Given the description of an element on the screen output the (x, y) to click on. 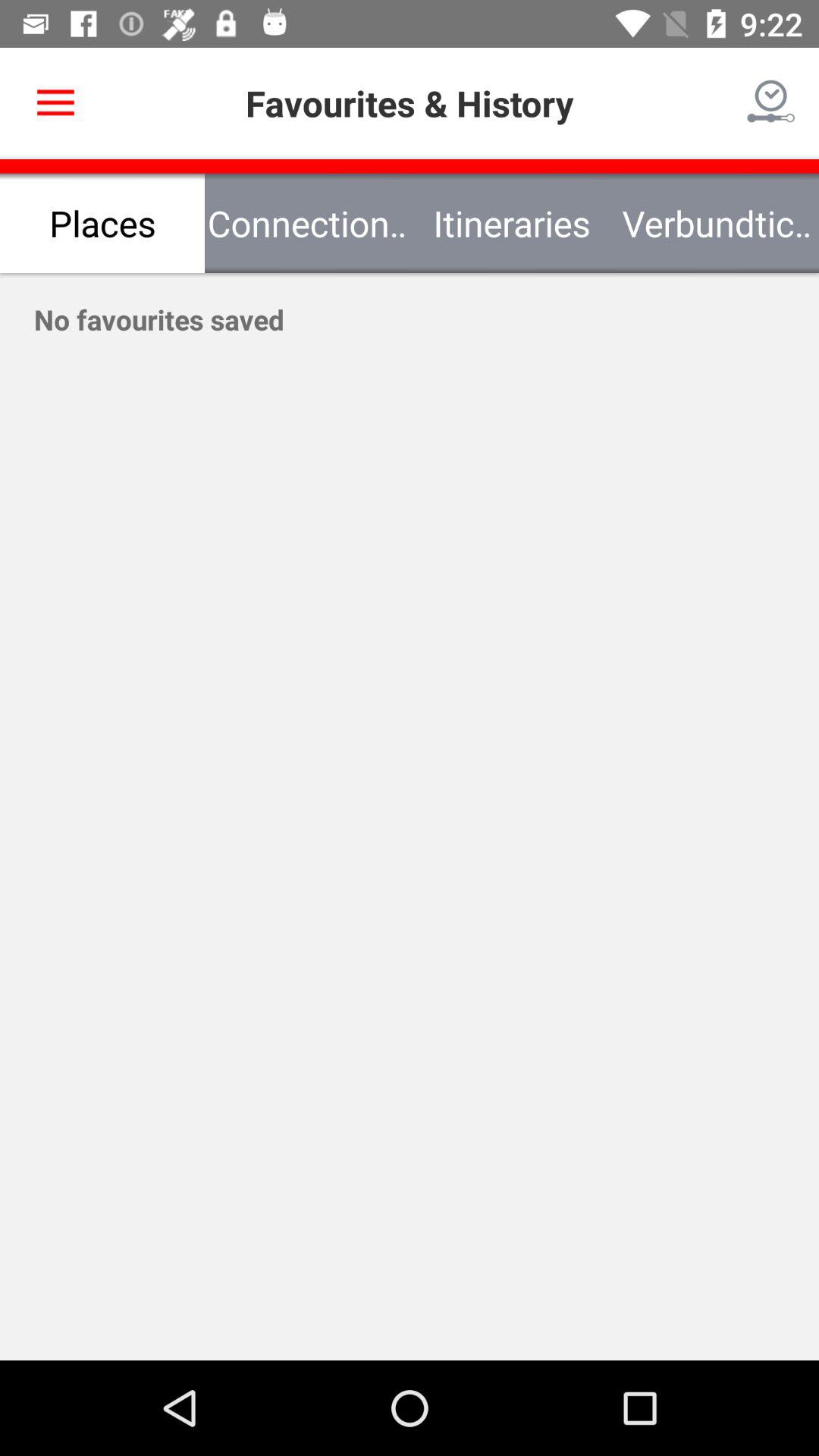
turn off item next to connection requests icon (102, 223)
